Given the description of an element on the screen output the (x, y) to click on. 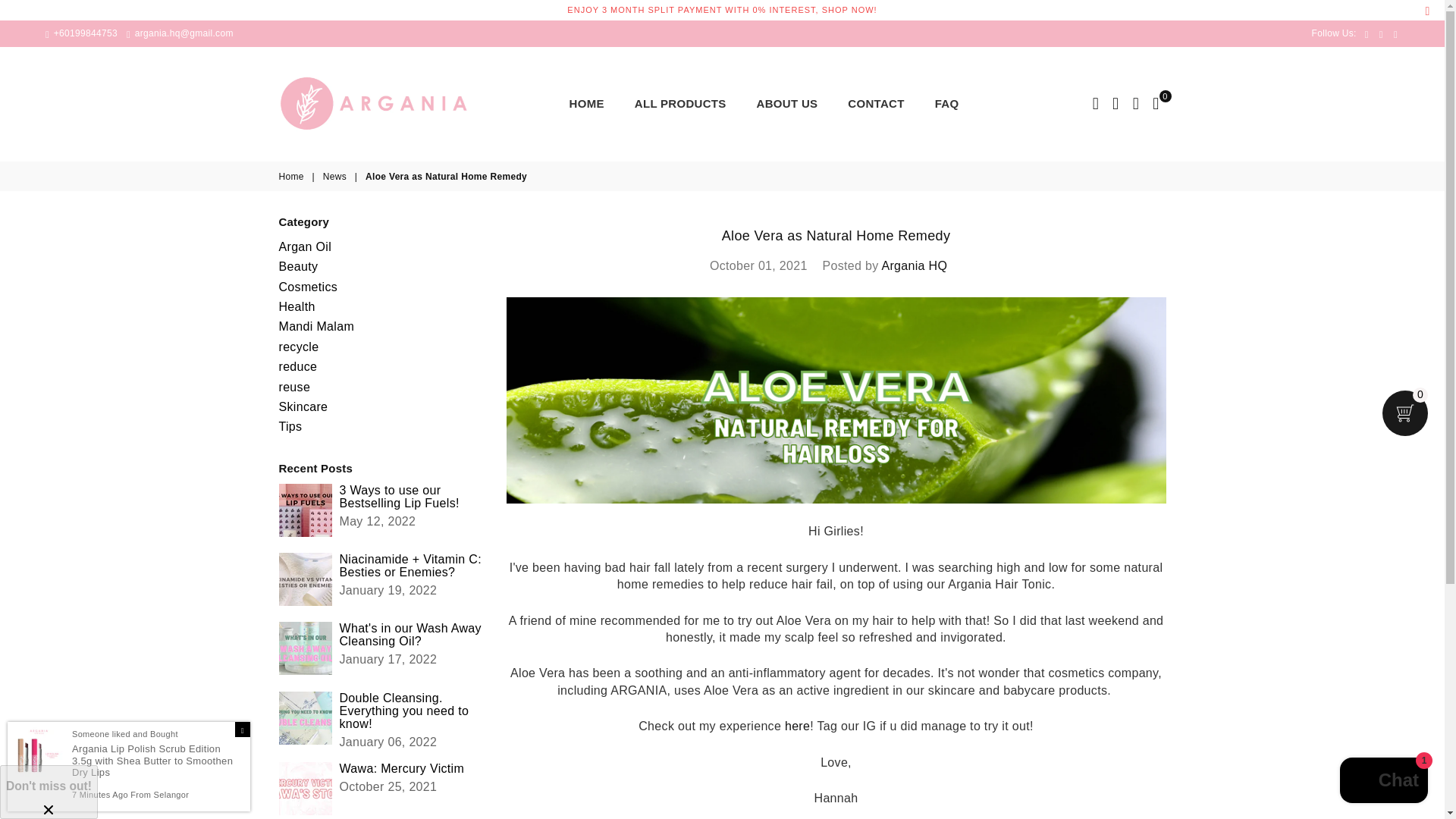
HOME (586, 103)
Home (292, 176)
Argan Oil (305, 246)
Show articles tagged Cosmetics (308, 286)
Argania on Facebook (1366, 34)
Back to the home page (292, 176)
Show articles tagged recycle (298, 346)
Show articles tagged Beauty (298, 266)
ALL PRODUCTS (680, 103)
News (336, 176)
Show articles tagged Mandi Malam (317, 326)
here (796, 726)
RSS (1396, 34)
Instagram (1381, 34)
Facebook (1366, 34)
